Given the description of an element on the screen output the (x, y) to click on. 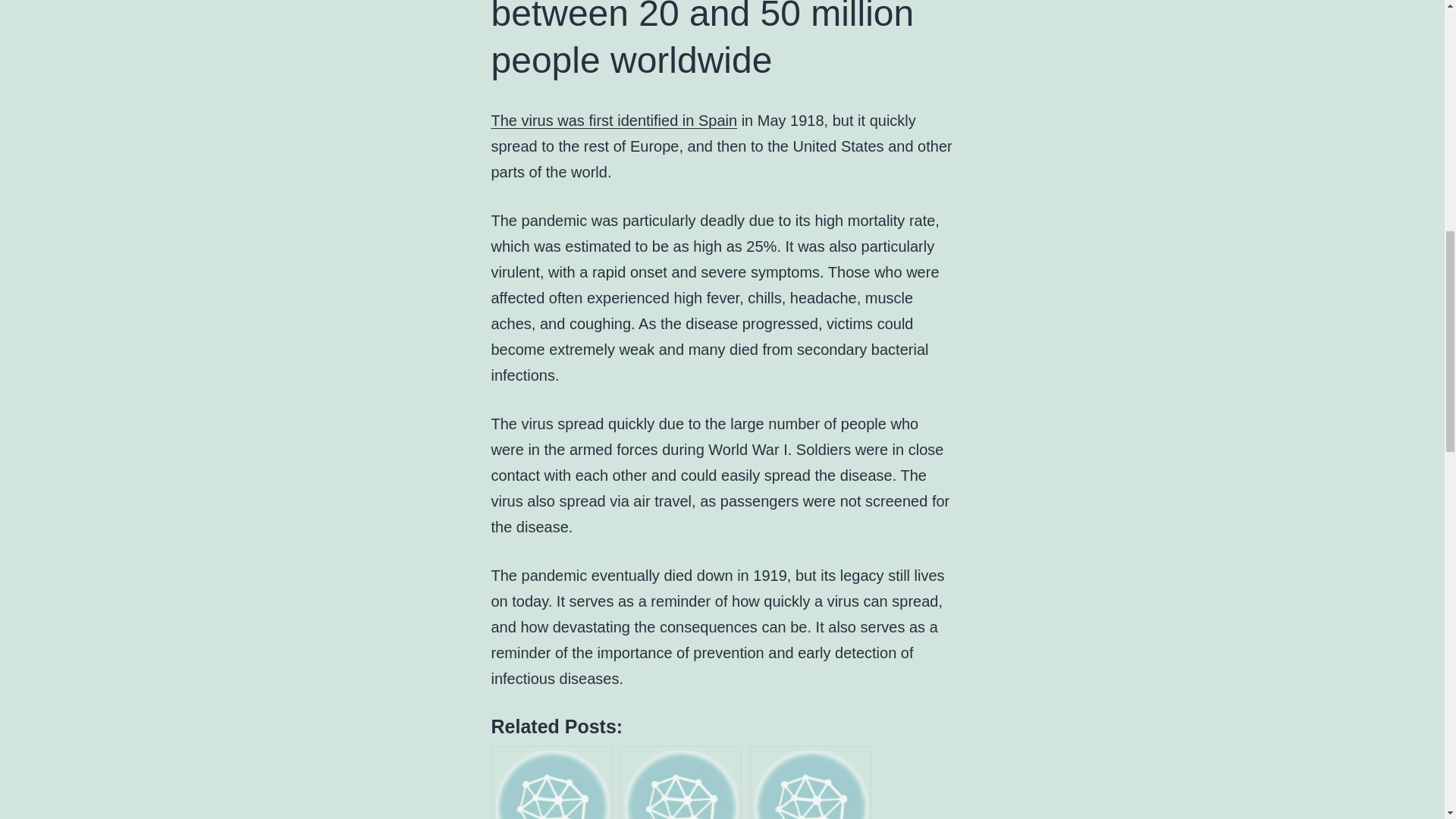
The virus was first identified in Spain (615, 120)
